Given the description of an element on the screen output the (x, y) to click on. 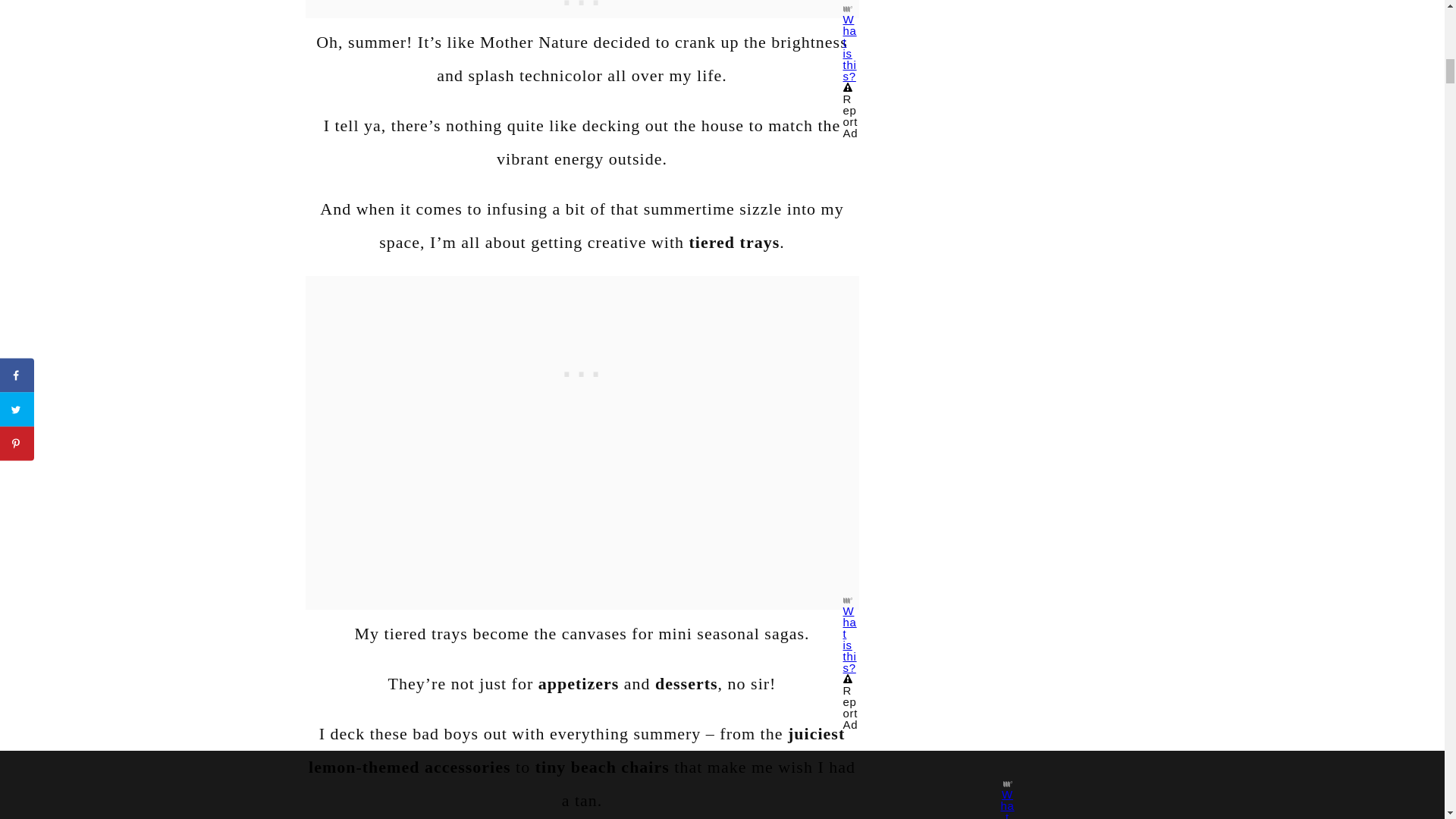
3rd party ad content (581, 371)
